Given the description of an element on the screen output the (x, y) to click on. 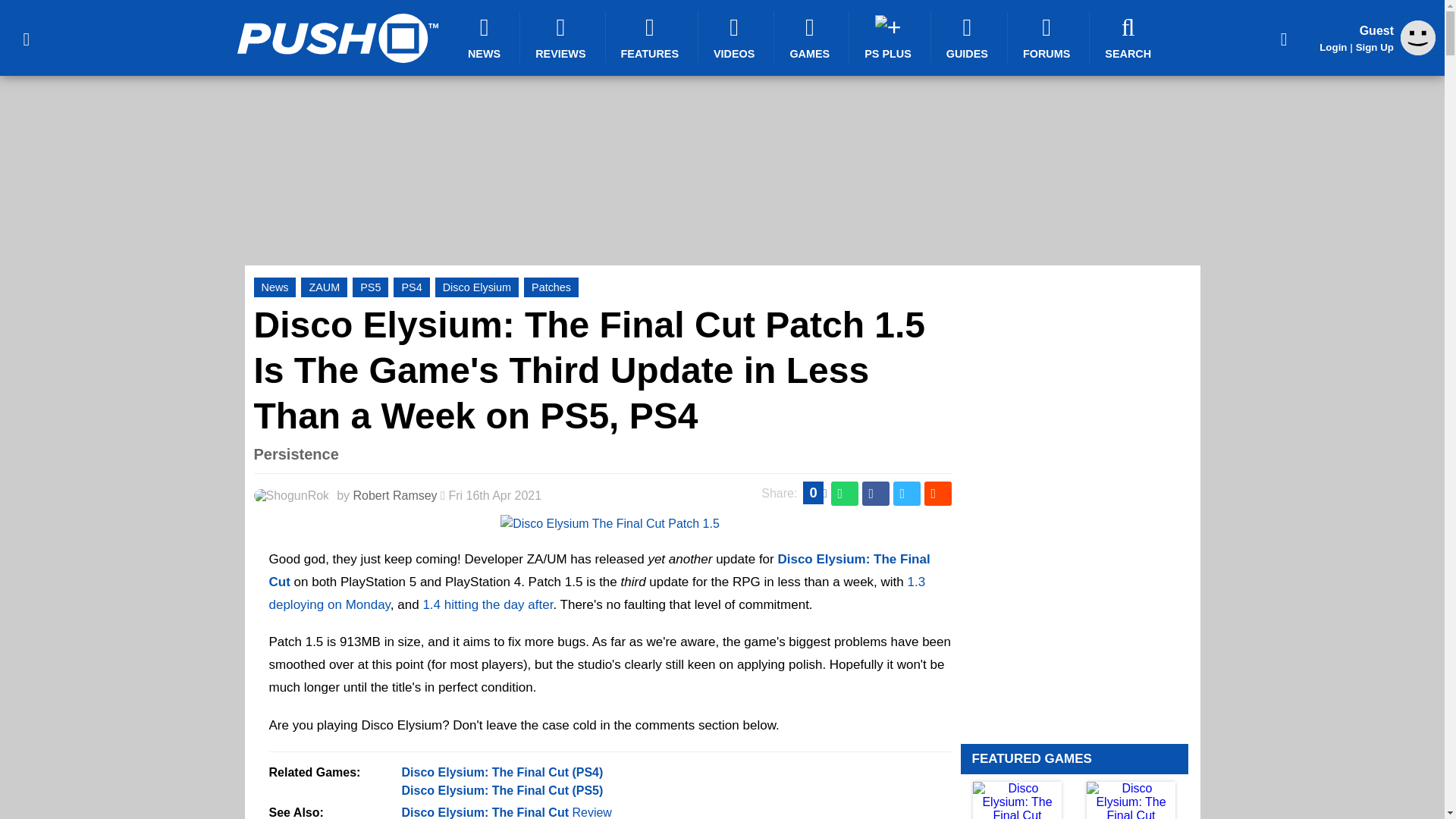
Menu (26, 37)
Disco Elysium The Final Cut Patch 1.5 (609, 522)
GAMES (811, 37)
News (274, 287)
Disco Elysium (476, 287)
PS4 (411, 287)
FORUMS (1048, 37)
ZAUM (324, 287)
Robert Ramsey (394, 495)
PS5 (370, 287)
Share this on Reddit (936, 493)
Share this on Twitter (906, 493)
NEWS (485, 37)
Login (1332, 47)
Push Square (336, 38)
